Given the description of an element on the screen output the (x, y) to click on. 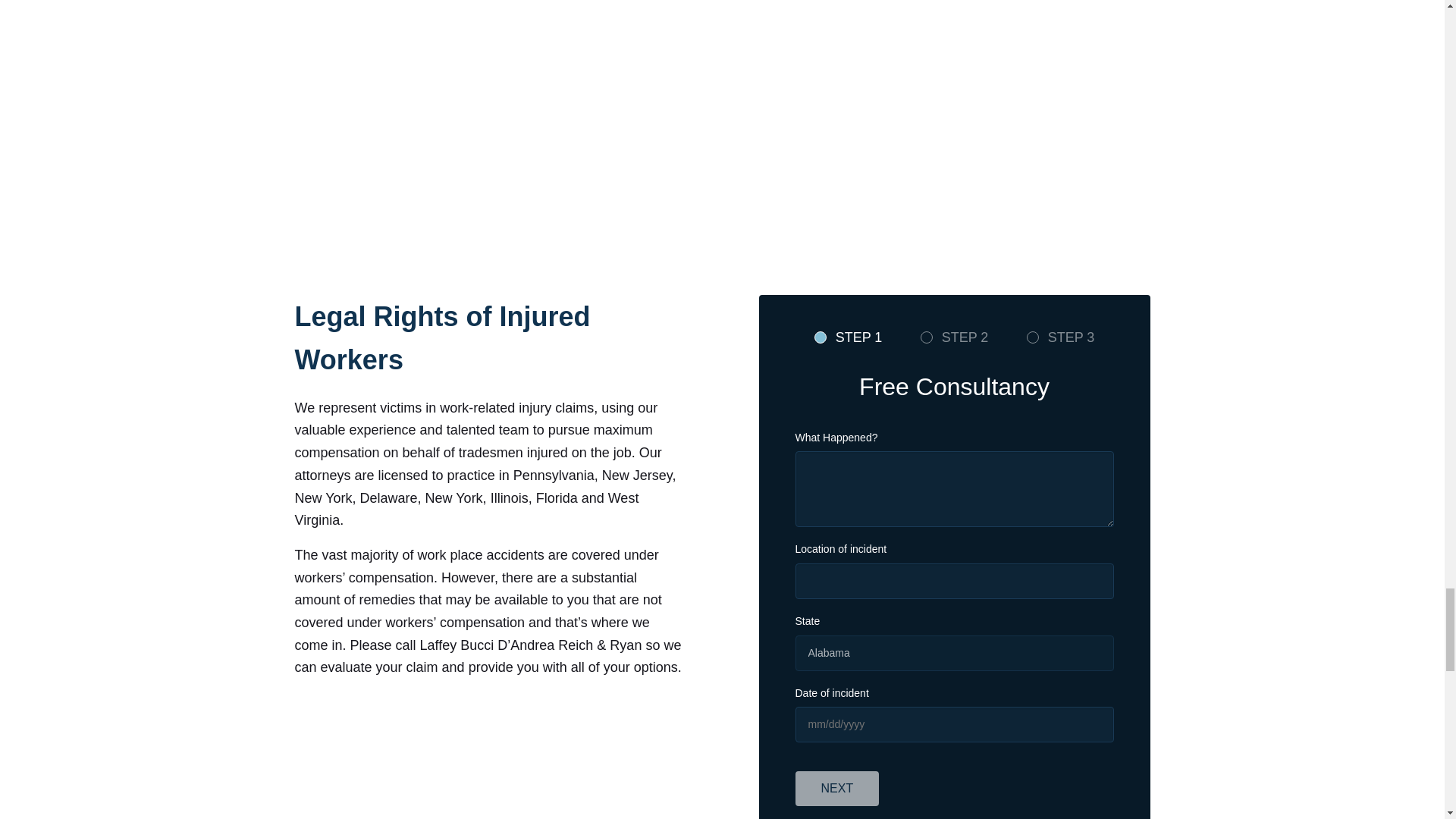
Next (836, 788)
